Given the description of an element on the screen output the (x, y) to click on. 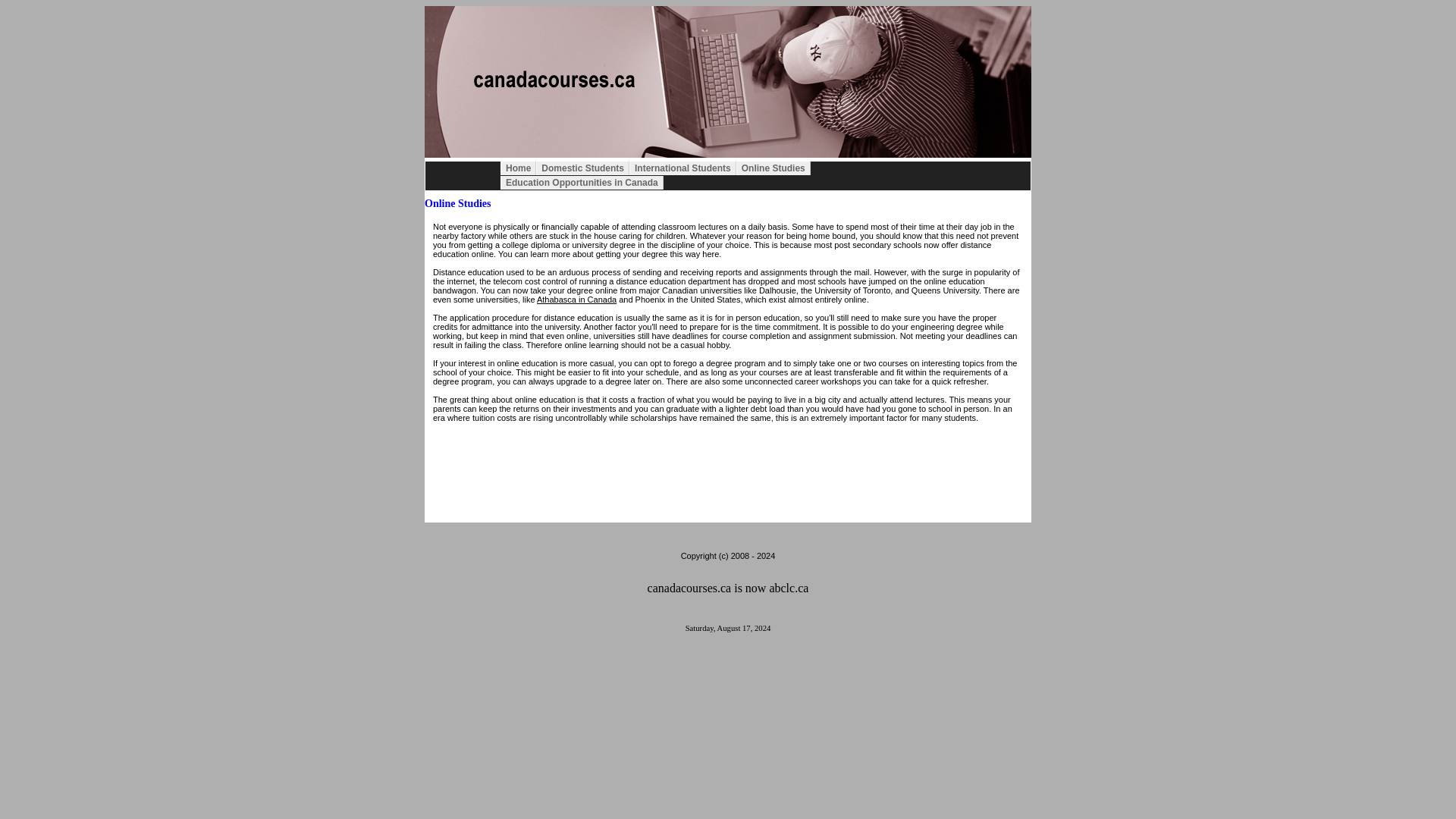
Domestic Students (581, 168)
Athabasca in Canada (576, 298)
Home (517, 168)
Online Studies (773, 168)
Education Opportunities in Canada (581, 182)
International Students (682, 168)
